Given the description of an element on the screen output the (x, y) to click on. 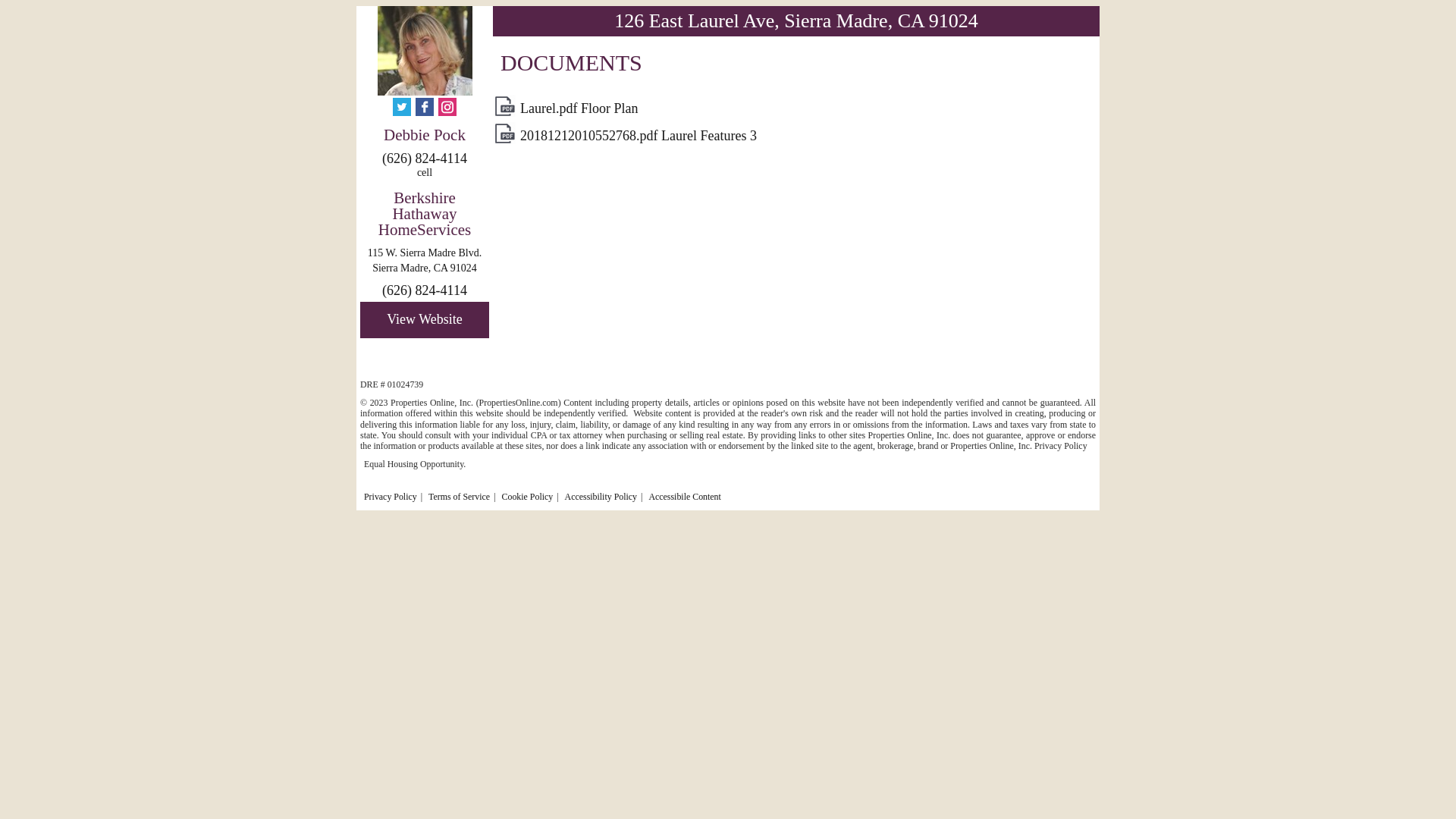
Laurel.pdf Floor Plan Element type: text (578, 108)
20181212010552768.pdf Laurel Features 3 Element type: text (638, 135)
View Website Element type: text (424, 319)
Debbie Pock Element type: text (424, 136)
PropertiesOnline.com Element type: text (518, 402)
Terms of Service Element type: text (458, 496)
Accessibile Content Element type: text (684, 496)
Privacy Policy Element type: text (1060, 445)
Cookie Policy Element type: text (527, 496)
Privacy Policy Element type: text (390, 496)
Accessibility Policy Element type: text (600, 496)
